Given the description of an element on the screen output the (x, y) to click on. 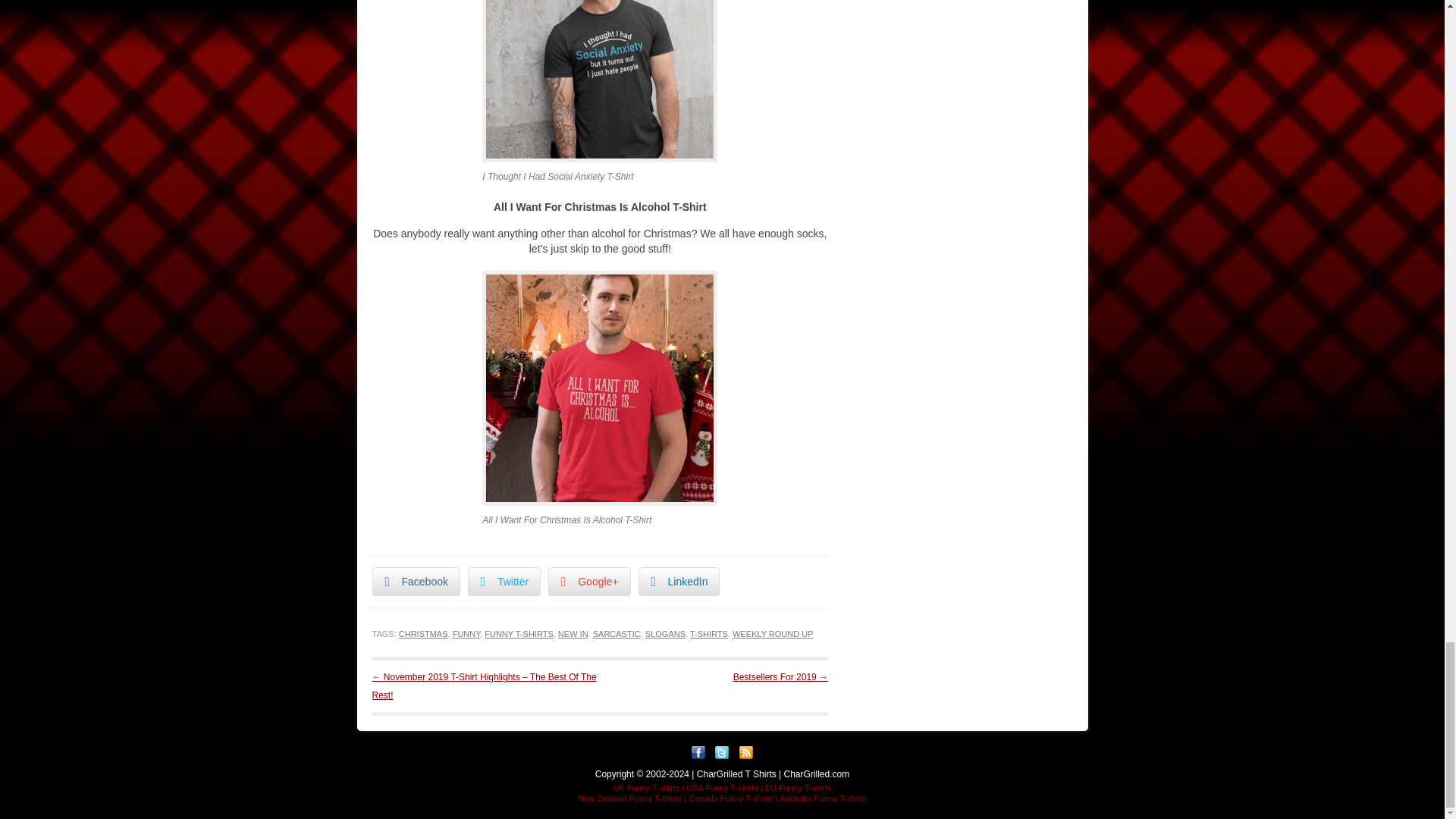
CHRISTMAS (423, 633)
FUNNY (466, 633)
Twitter (503, 581)
CharGrilled Funny T-Shirts (736, 774)
T-SHIRTS (709, 633)
NEW IN (572, 633)
WEEKLY ROUND UP (772, 633)
SLOGANS (665, 633)
SARCASTIC (616, 633)
FUNNY T-SHIRTS (518, 633)
CharGrilled Funny T-Shirts (817, 774)
LinkedIn (679, 581)
Facebook (415, 581)
